Given the description of an element on the screen output the (x, y) to click on. 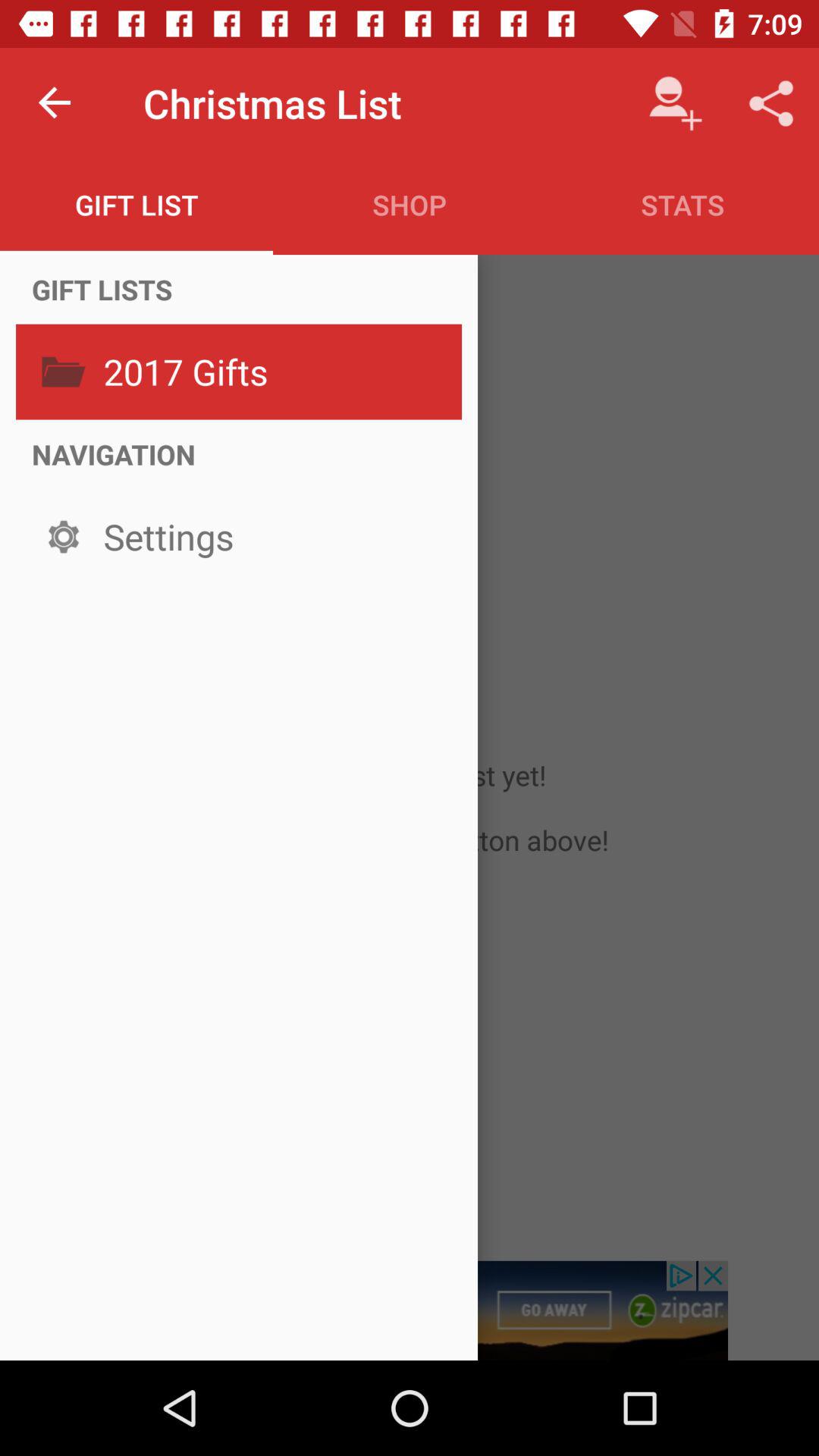
press icon to the left of stats item (409, 204)
